Given the description of an element on the screen output the (x, y) to click on. 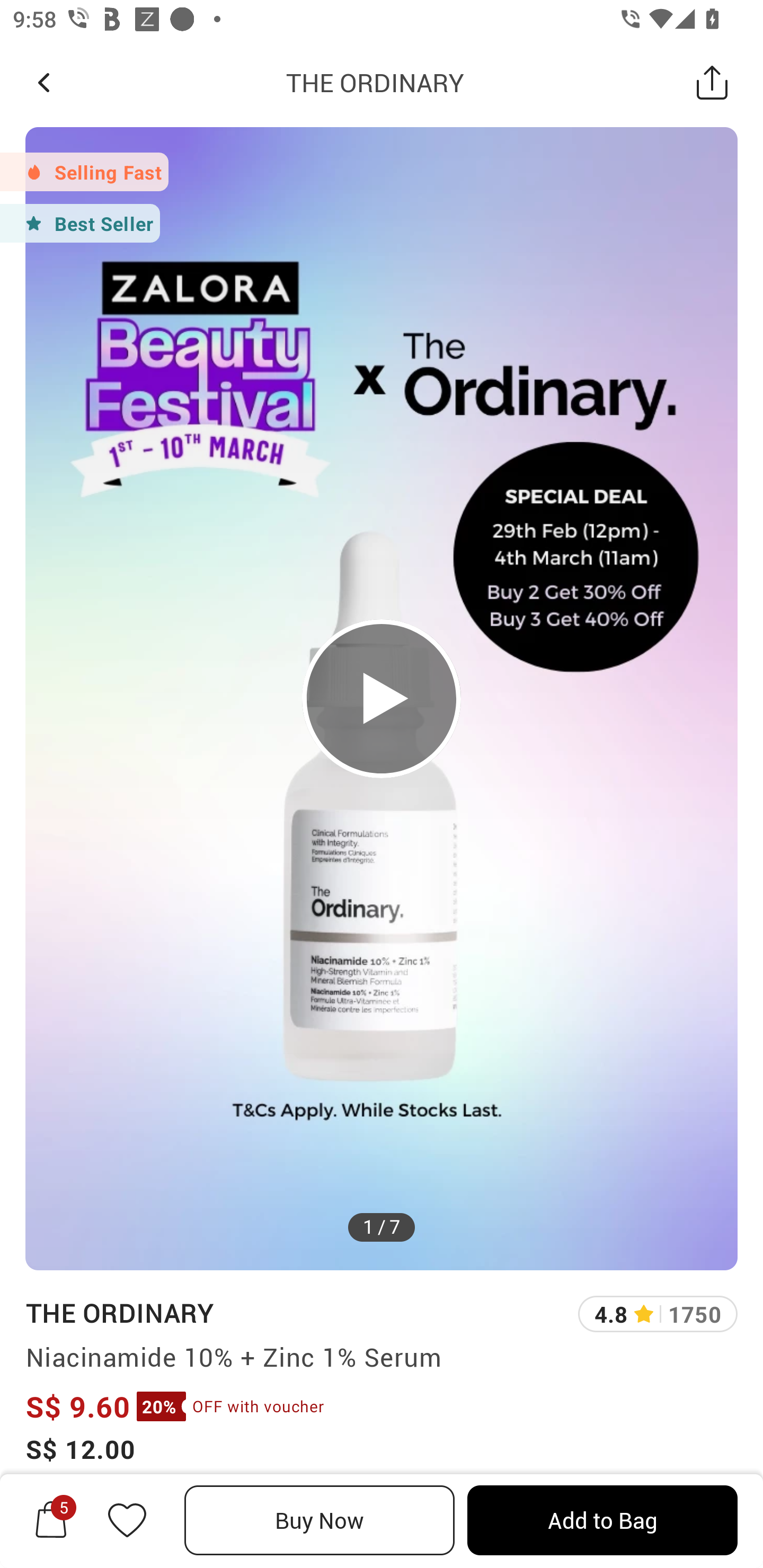
THE ORDINARY (375, 82)
Share this Product (711, 82)
THE ORDINARY (119, 1312)
4.8 1750 (657, 1313)
Buy Now (319, 1519)
Add to Bag (601, 1519)
5 (50, 1520)
